Given the description of an element on the screen output the (x, y) to click on. 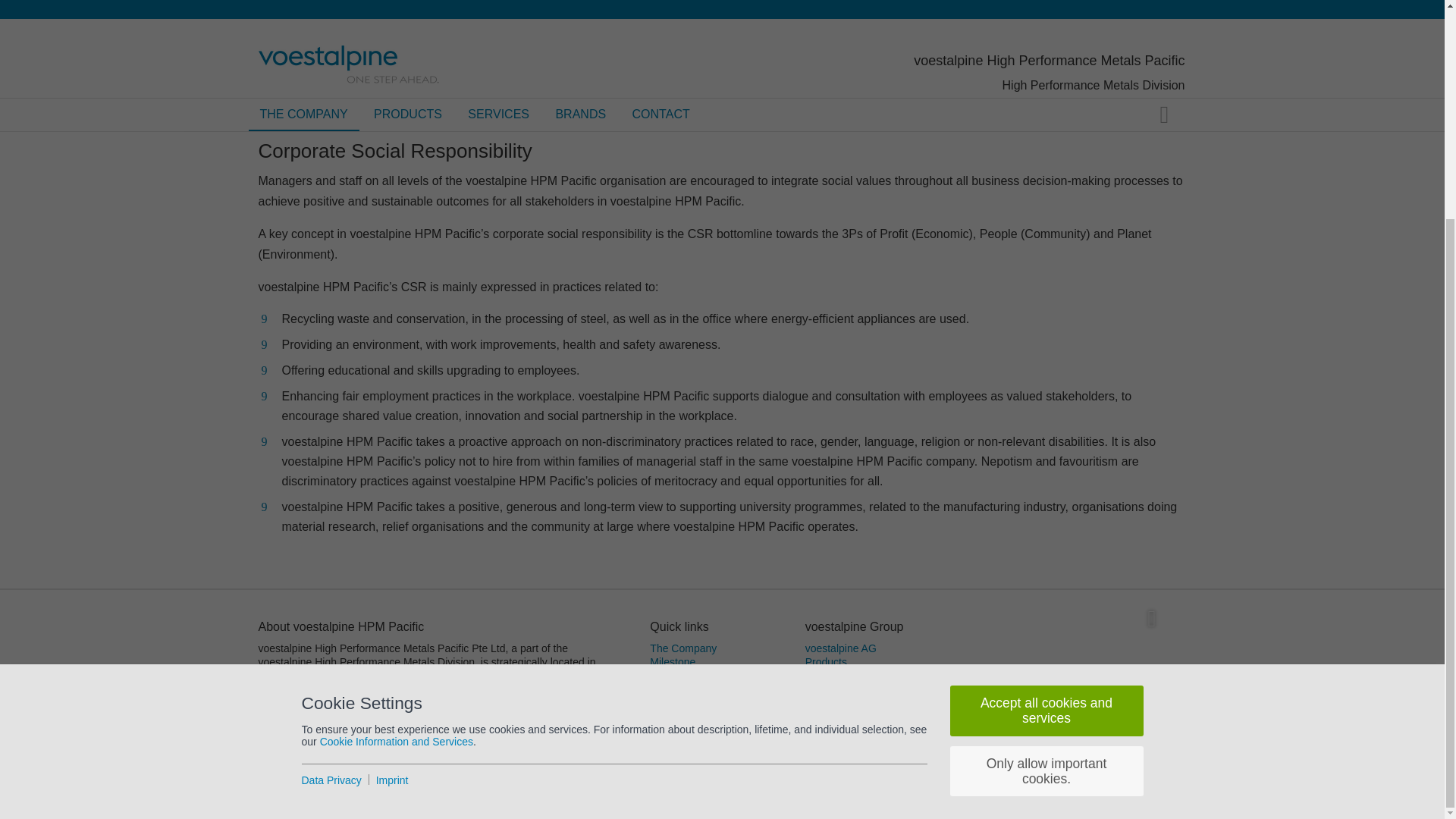
Brands (665, 702)
voestalpine AG (840, 648)
Imprint (275, 802)
Corporate Blog (840, 675)
The Company (682, 648)
Products (826, 662)
Products (670, 675)
My privacy settings (353, 802)
Services (669, 689)
Disclaimer (1109, 781)
Milestone (672, 662)
